Given the description of an element on the screen output the (x, y) to click on. 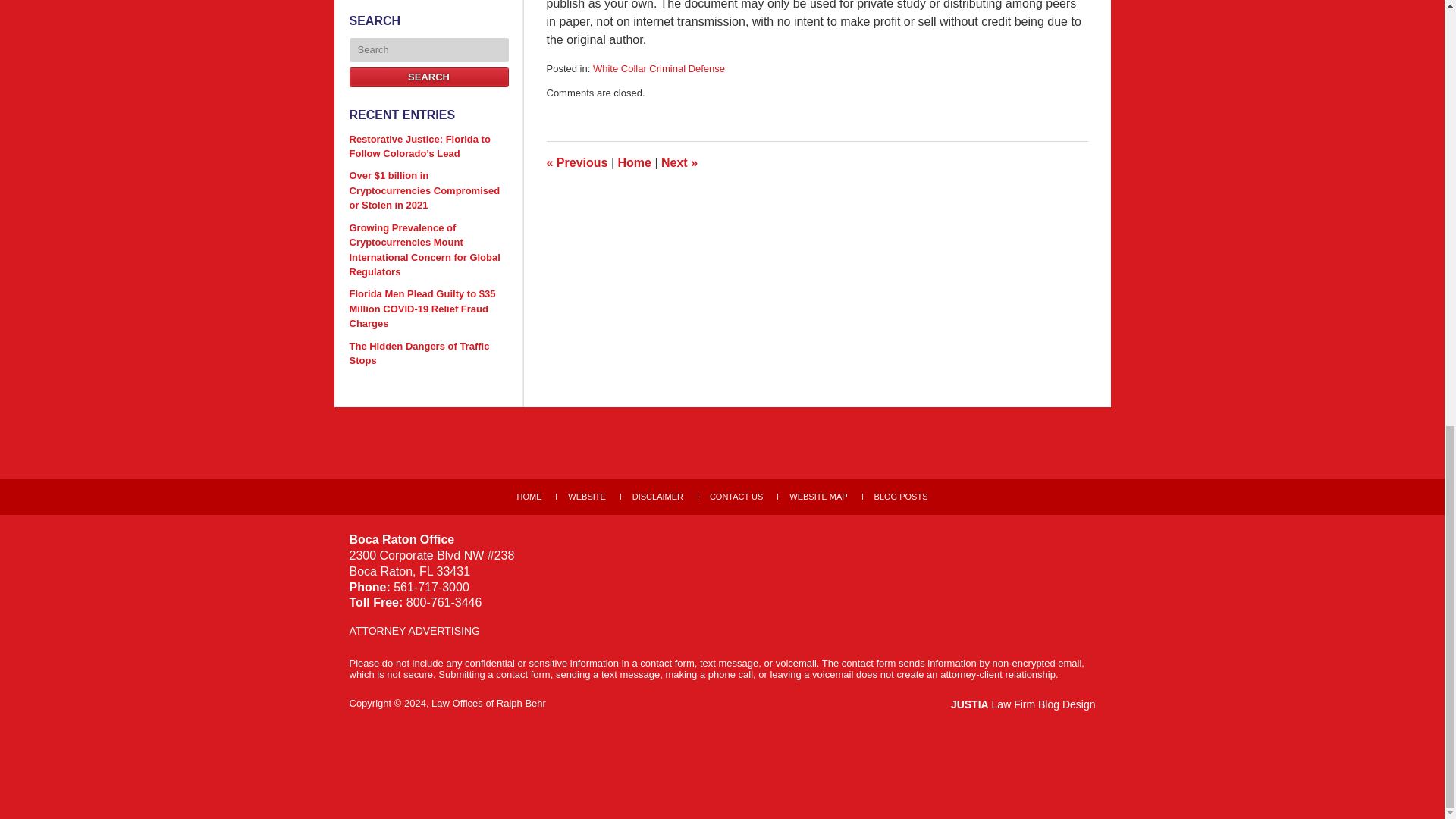
White Collar Criminal Defense (658, 68)
Florida Man Pleads Guilty To Sex-Related Offense (576, 162)
Florida Police Can Lie To You (679, 162)
View all posts in White Collar Criminal Defense (658, 68)
Home (633, 162)
